Given the description of an element on the screen output the (x, y) to click on. 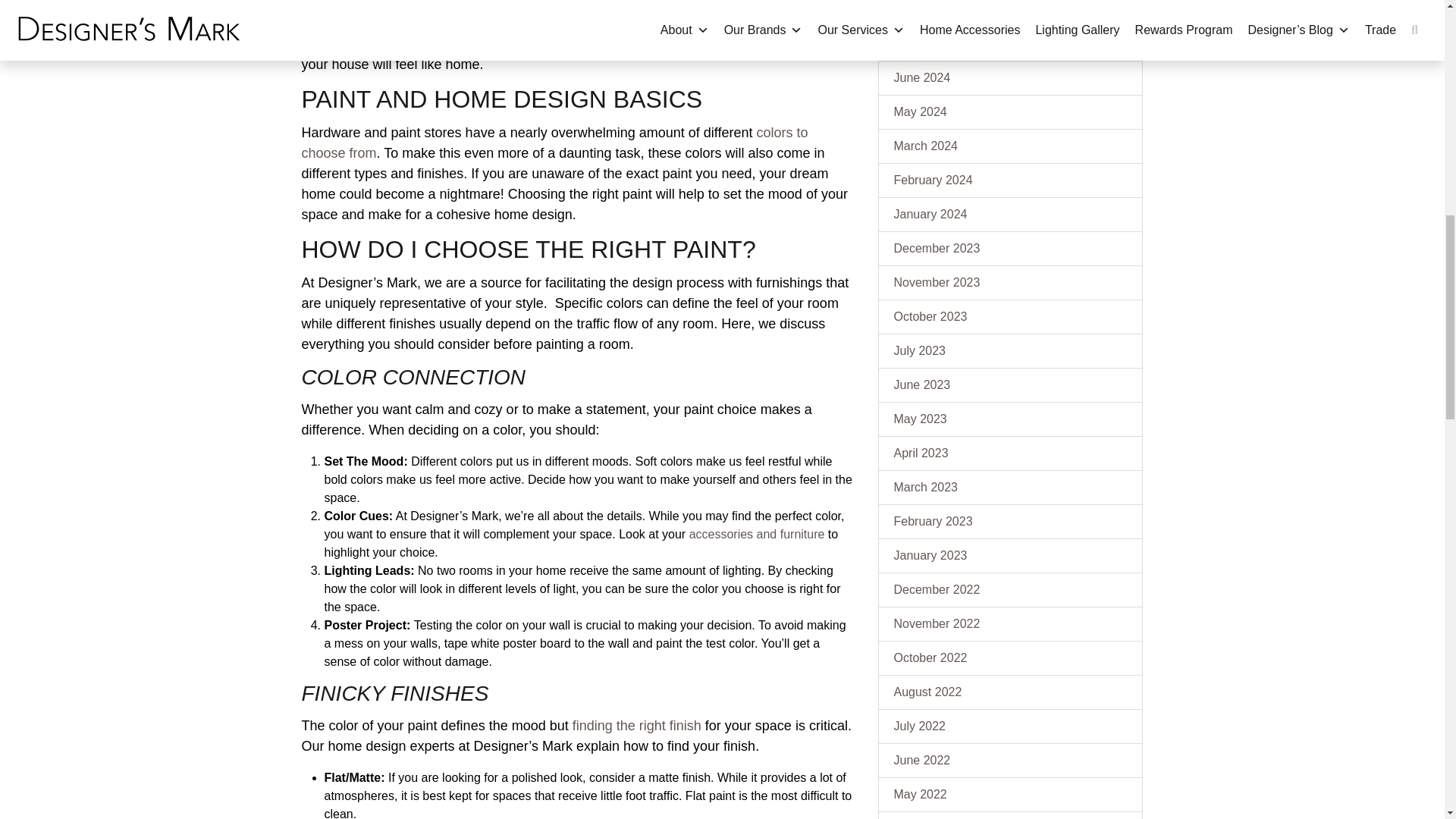
accessories and furniture (756, 533)
finding the right finish (636, 725)
colors to choose from (554, 142)
